Given the description of an element on the screen output the (x, y) to click on. 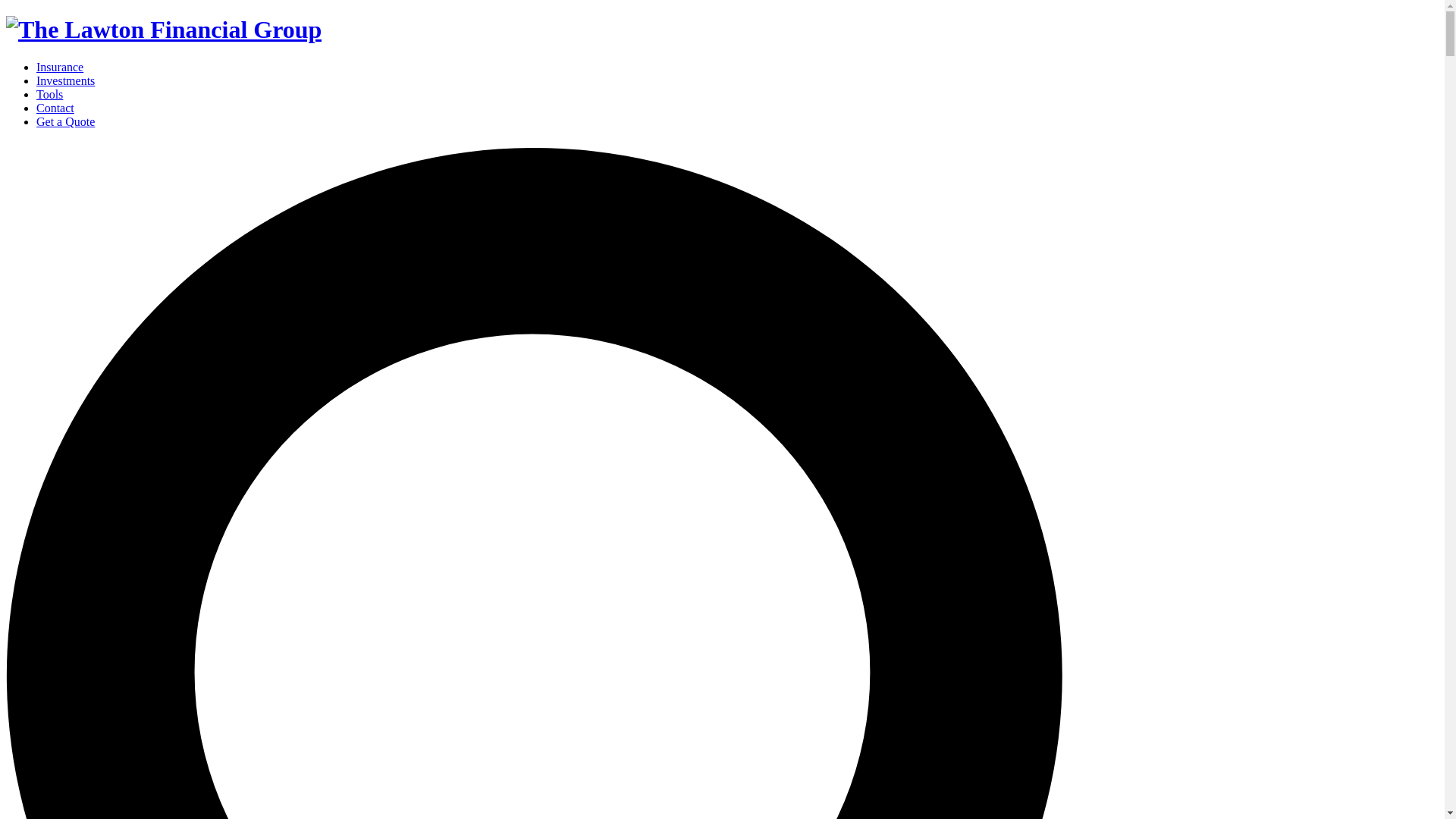
Get a Quote (65, 121)
Insurance (59, 66)
Tools (49, 93)
Investments (65, 80)
Contact (55, 107)
